Given the description of an element on the screen output the (x, y) to click on. 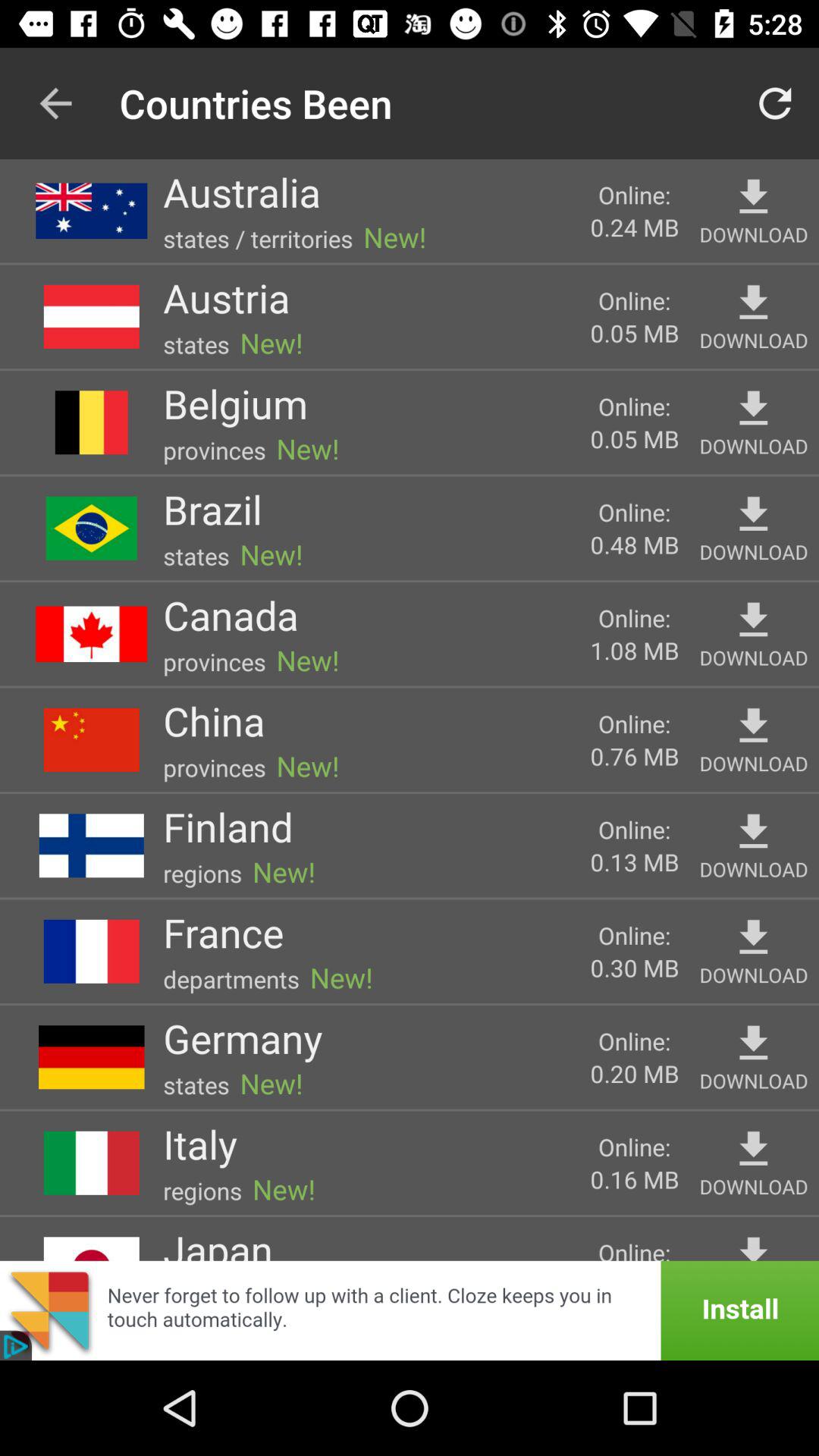
go to download option (753, 197)
